Given the description of an element on the screen output the (x, y) to click on. 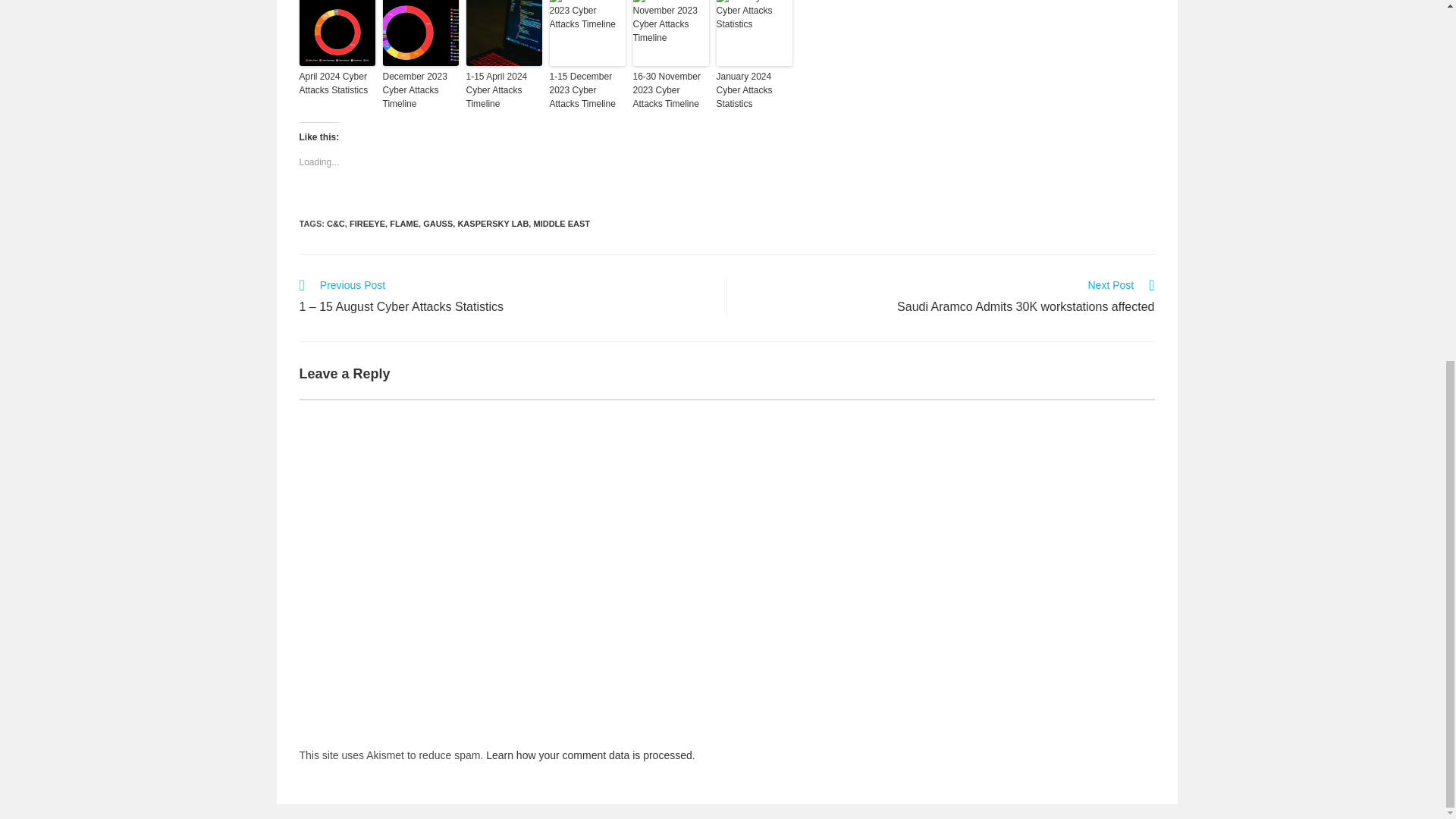
1-15 April 2024 Cyber Attacks Timeline (503, 89)
December 2023 Cyber Attacks Timeline (419, 89)
1-15 December 2023 Cyber Attacks Timeline (586, 89)
April 2024 Cyber Attacks Statistics (336, 83)
